Given the description of an element on the screen output the (x, y) to click on. 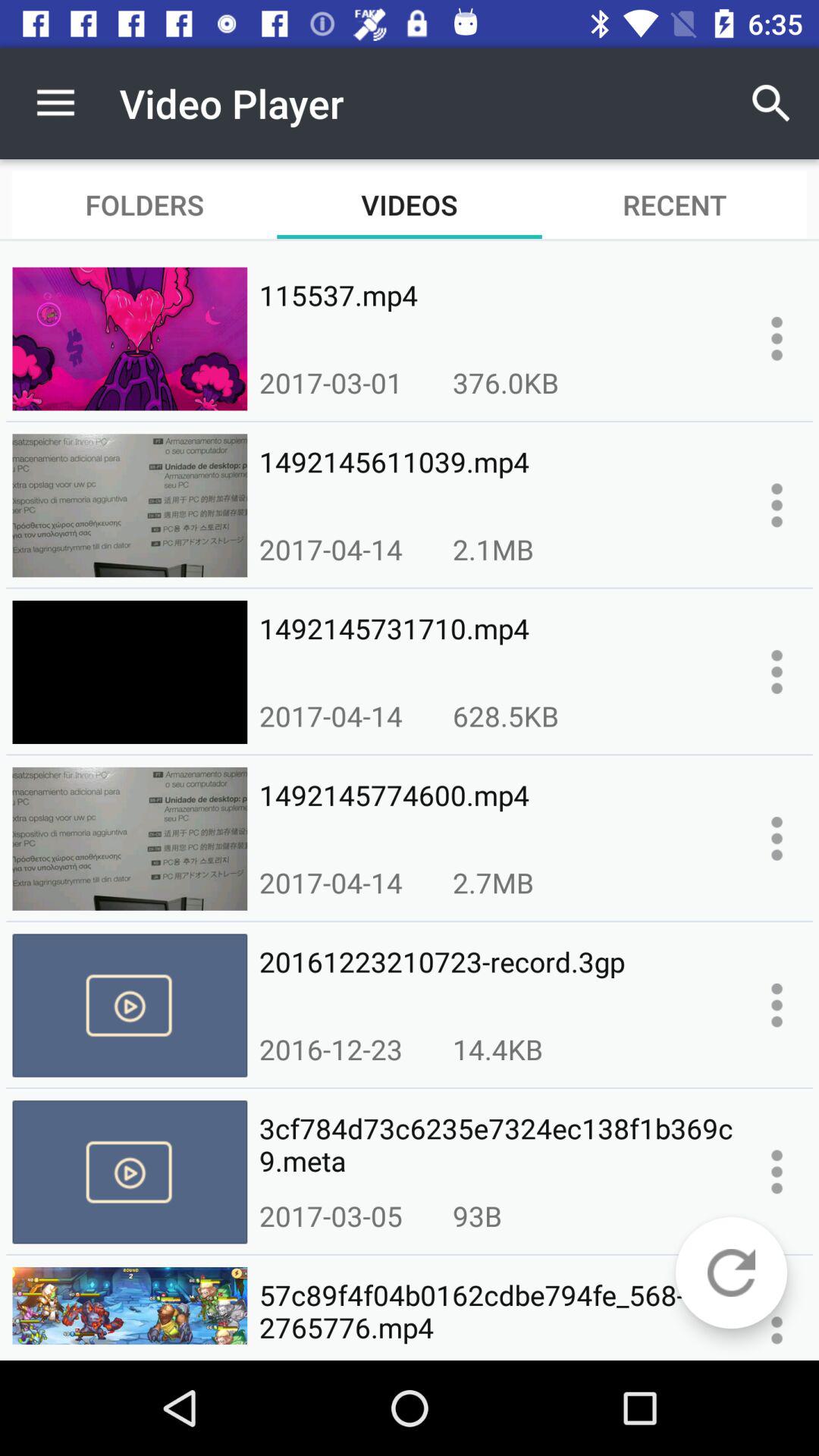
show second thumbnail options (776, 505)
